Given the description of an element on the screen output the (x, y) to click on. 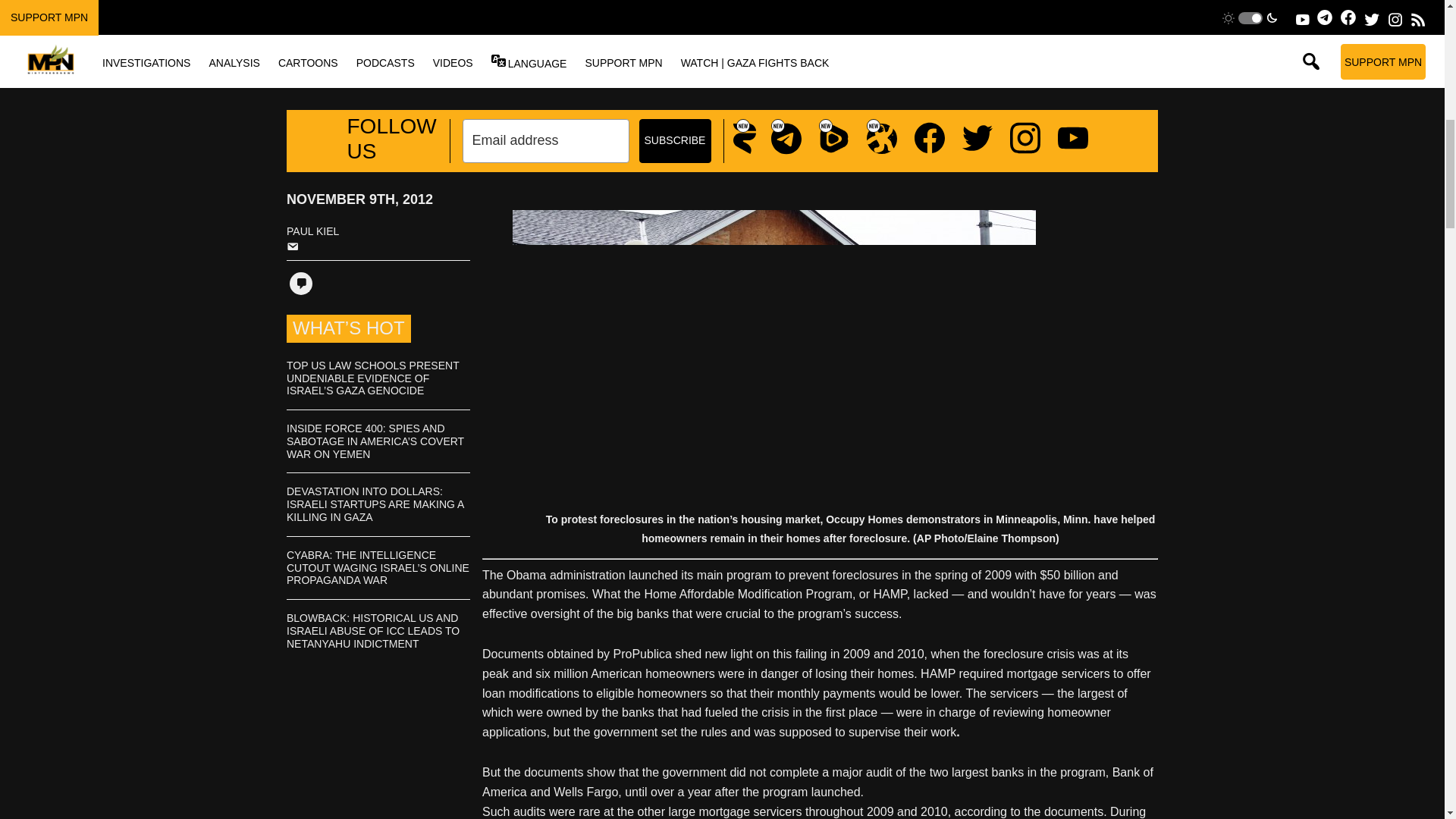
Subscribe (674, 140)
Subscribe (674, 140)
